Given the description of an element on the screen output the (x, y) to click on. 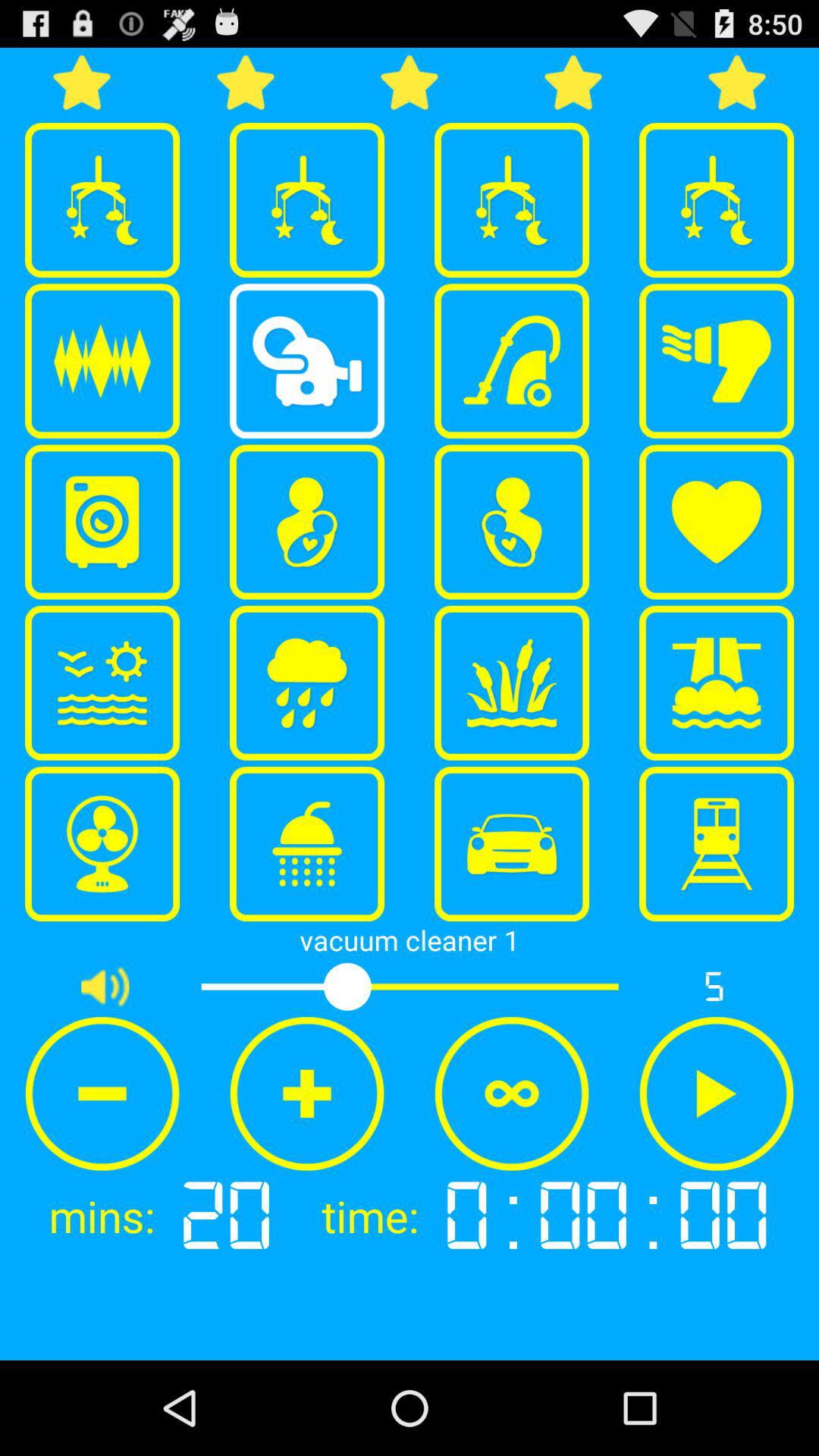
press the app above the vacuum cleaner 1 (102, 843)
